Given the description of an element on the screen output the (x, y) to click on. 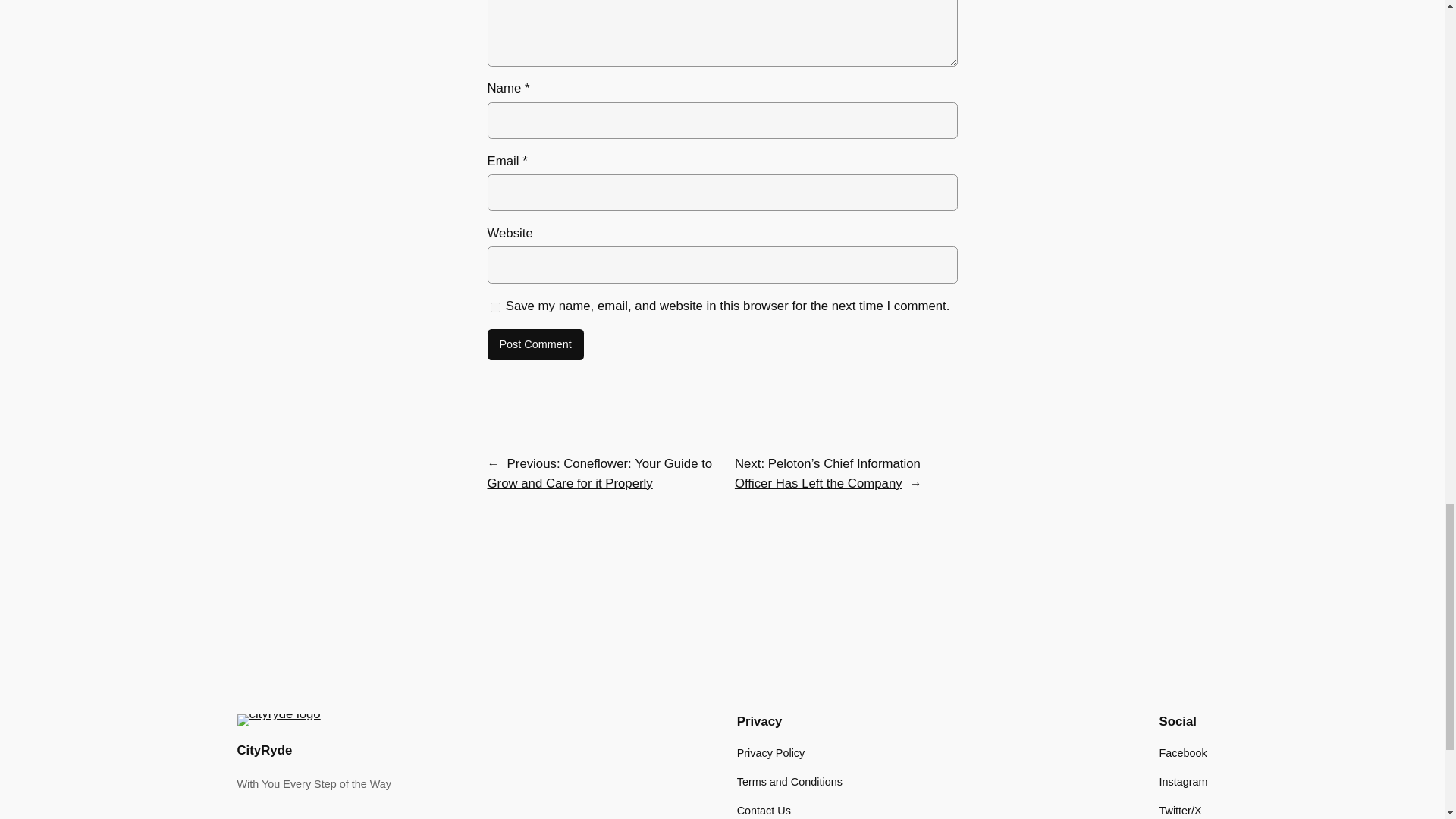
yes (494, 307)
Post Comment (534, 345)
Post Comment (534, 345)
Privacy Policy (770, 752)
CityRyde (263, 749)
